Given the description of an element on the screen output the (x, y) to click on. 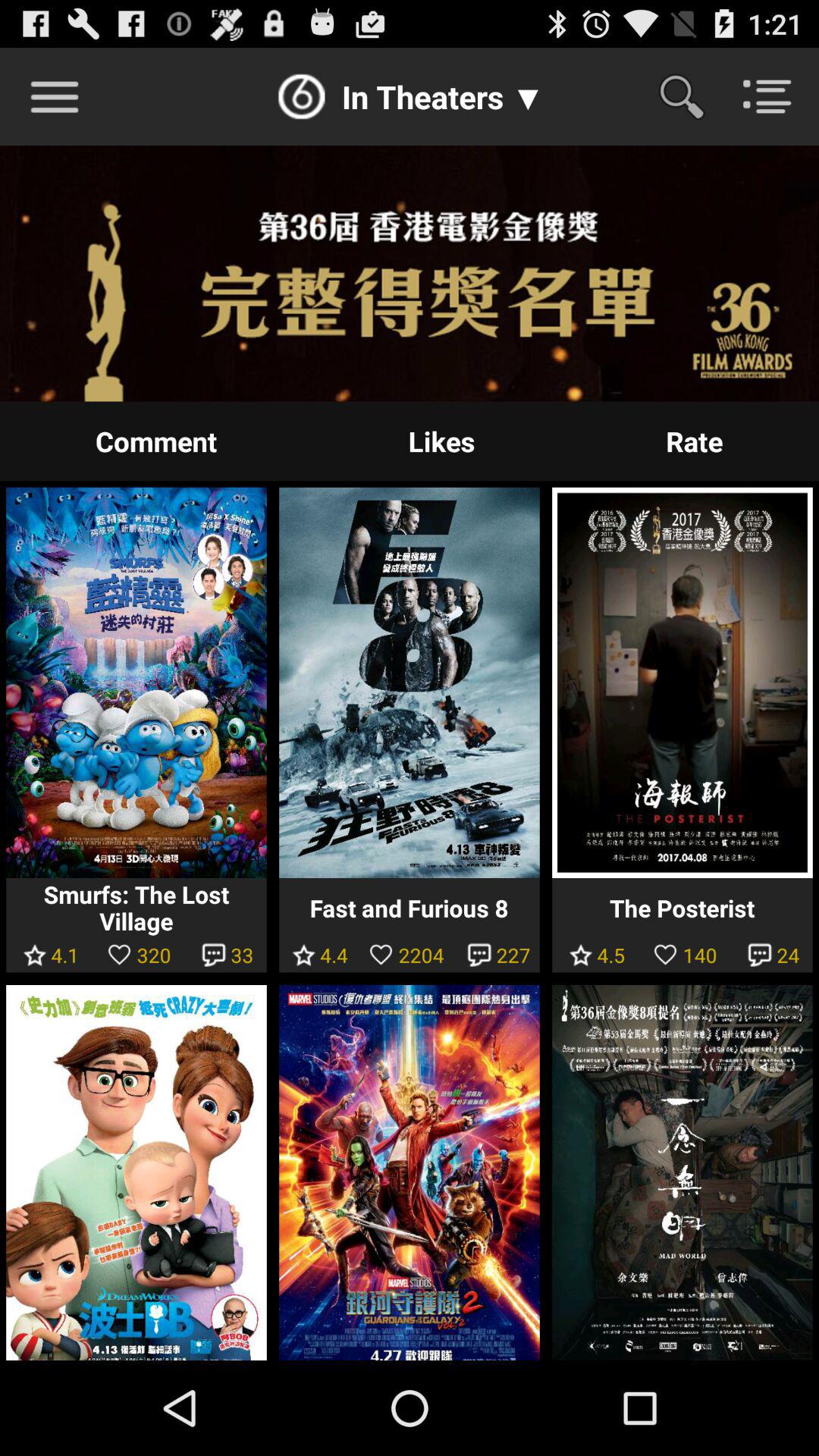
search for content (691, 96)
